Given the description of an element on the screen output the (x, y) to click on. 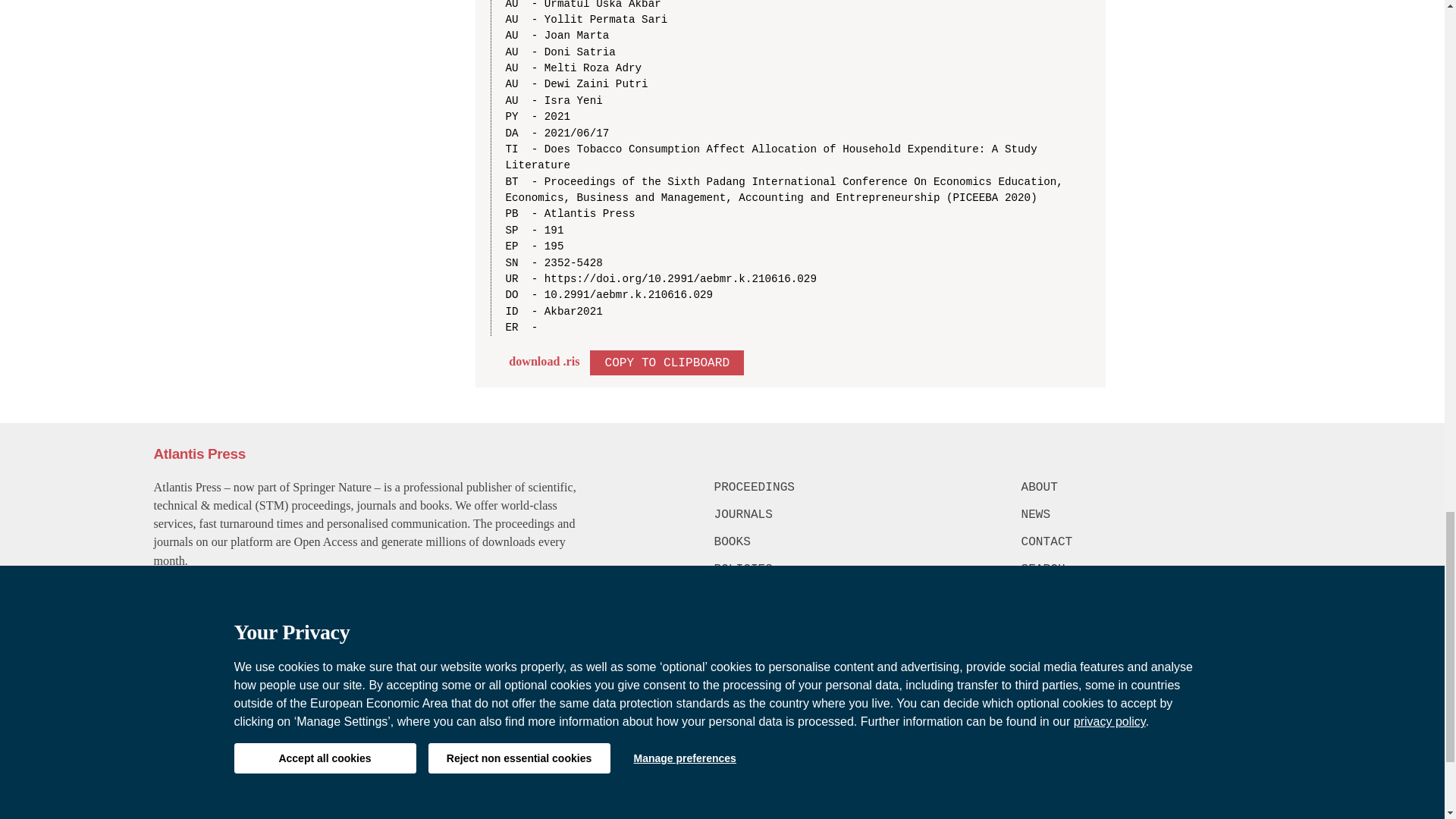
Twitter (1243, 664)
Facebook (1215, 664)
LinkedIn (1275, 664)
